Given the description of an element on the screen output the (x, y) to click on. 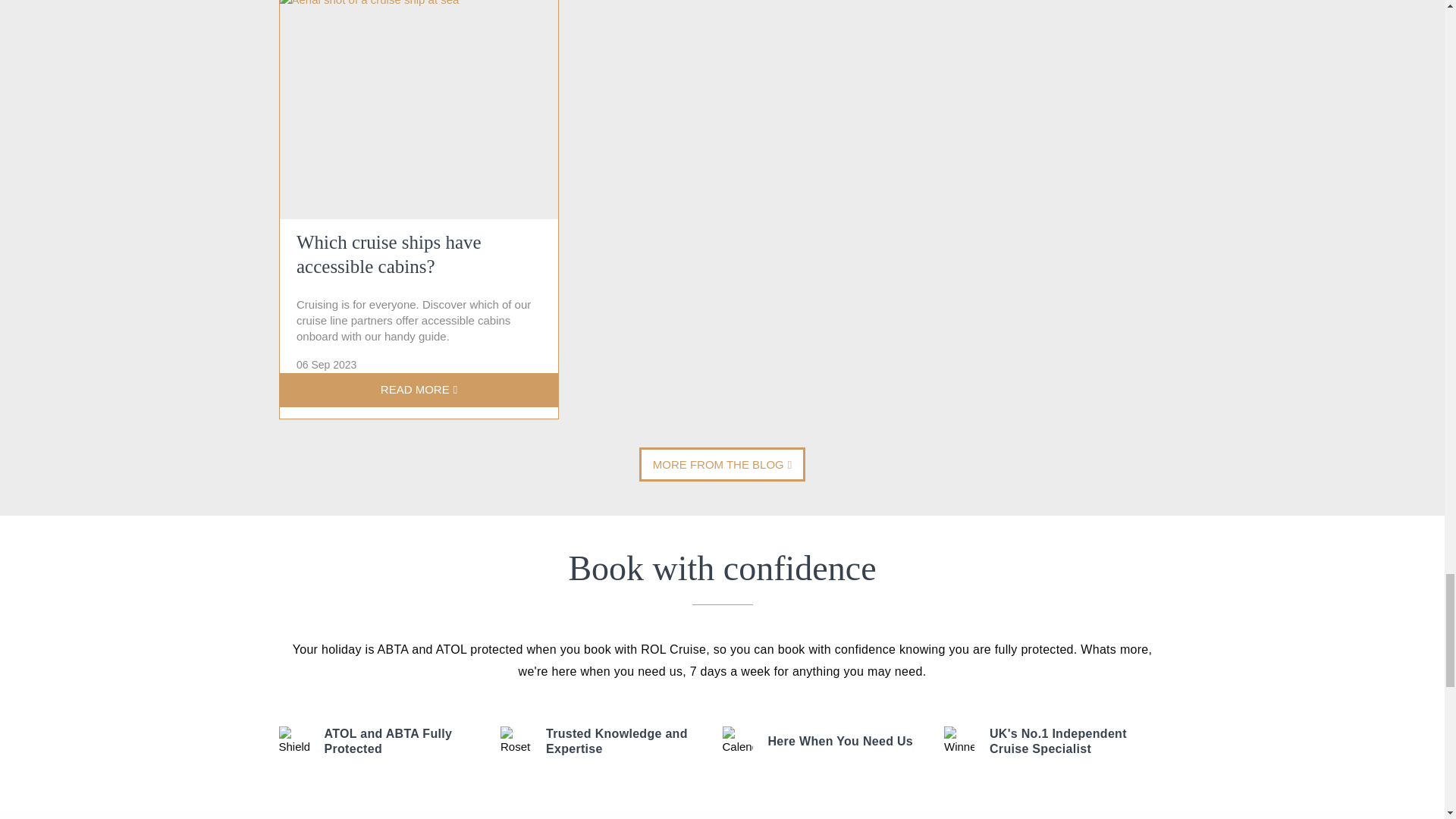
Which cruise ships have accessible cabins? (418, 281)
Which cruise ships have accessible cabins? (418, 109)
Which cruise ships have accessible cabins? (418, 390)
